Given the description of an element on the screen output the (x, y) to click on. 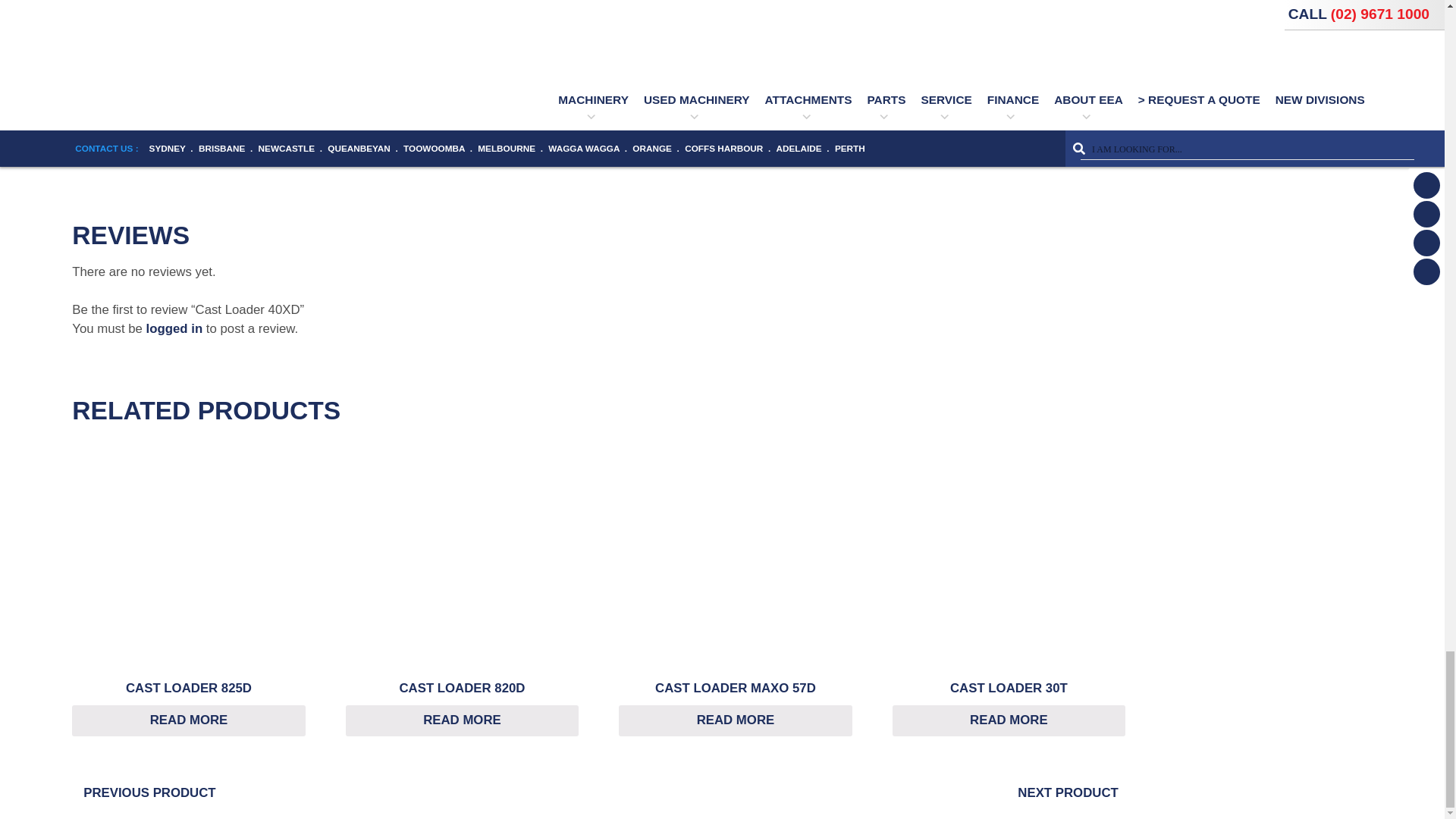
Cast Loader (600, 114)
